Given the description of an element on the screen output the (x, y) to click on. 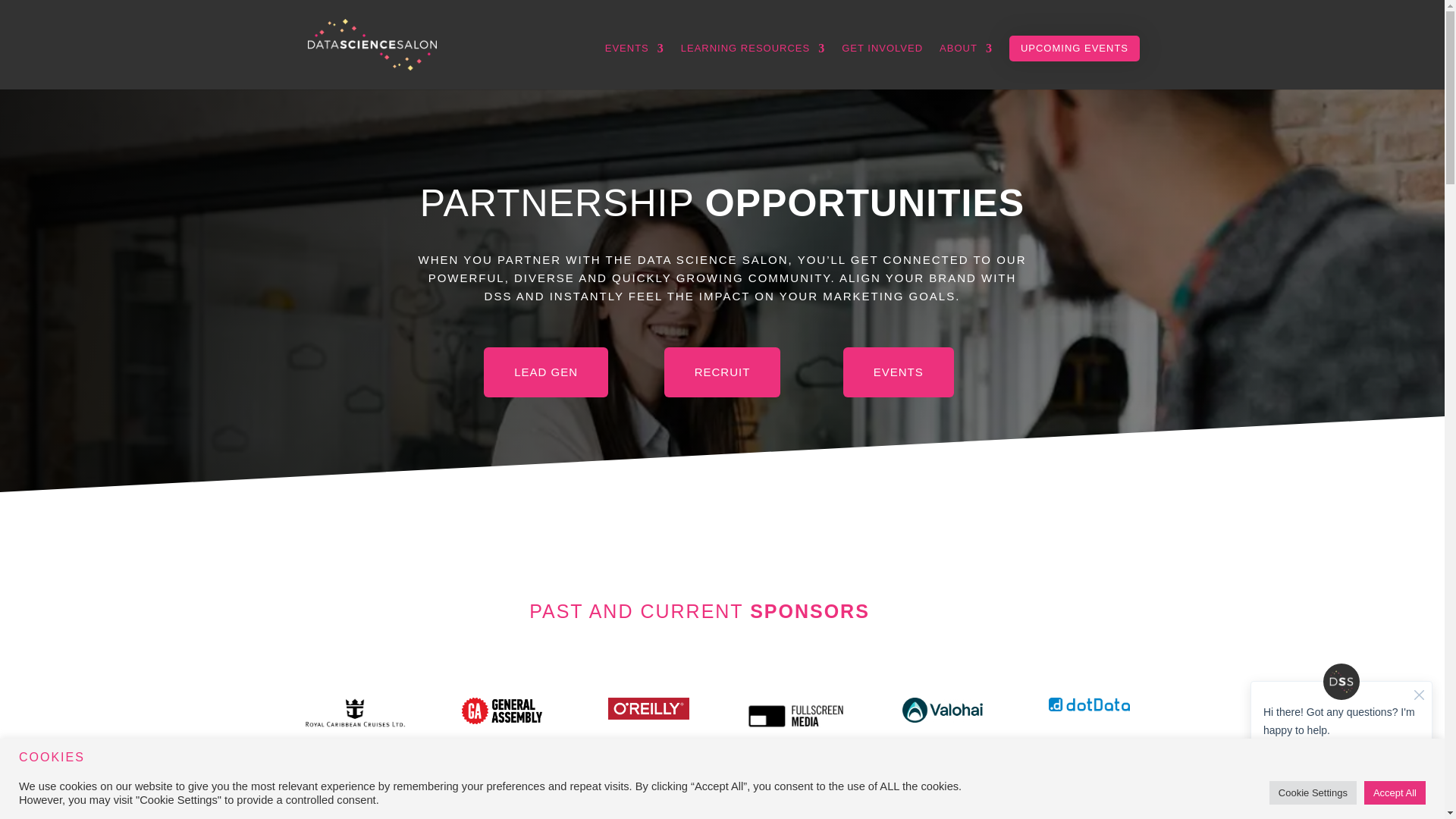
ABOUT (965, 66)
UPCOMING EVENTS (1074, 48)
GET INVOLVED (882, 66)
EVENTS (634, 66)
domino-data-lab-logo (795, 792)
fullscreen-medial-logo (795, 715)
LEARNING RESOURCES (753, 66)
fiu-logo-vertical (354, 791)
Explorium Logo black PNG (1089, 786)
Plotly-logo (649, 789)
ibm-logo-png-transparent-background copy (502, 793)
algorithmia-purple (941, 787)
oreilly logo (648, 708)
